Given the description of an element on the screen output the (x, y) to click on. 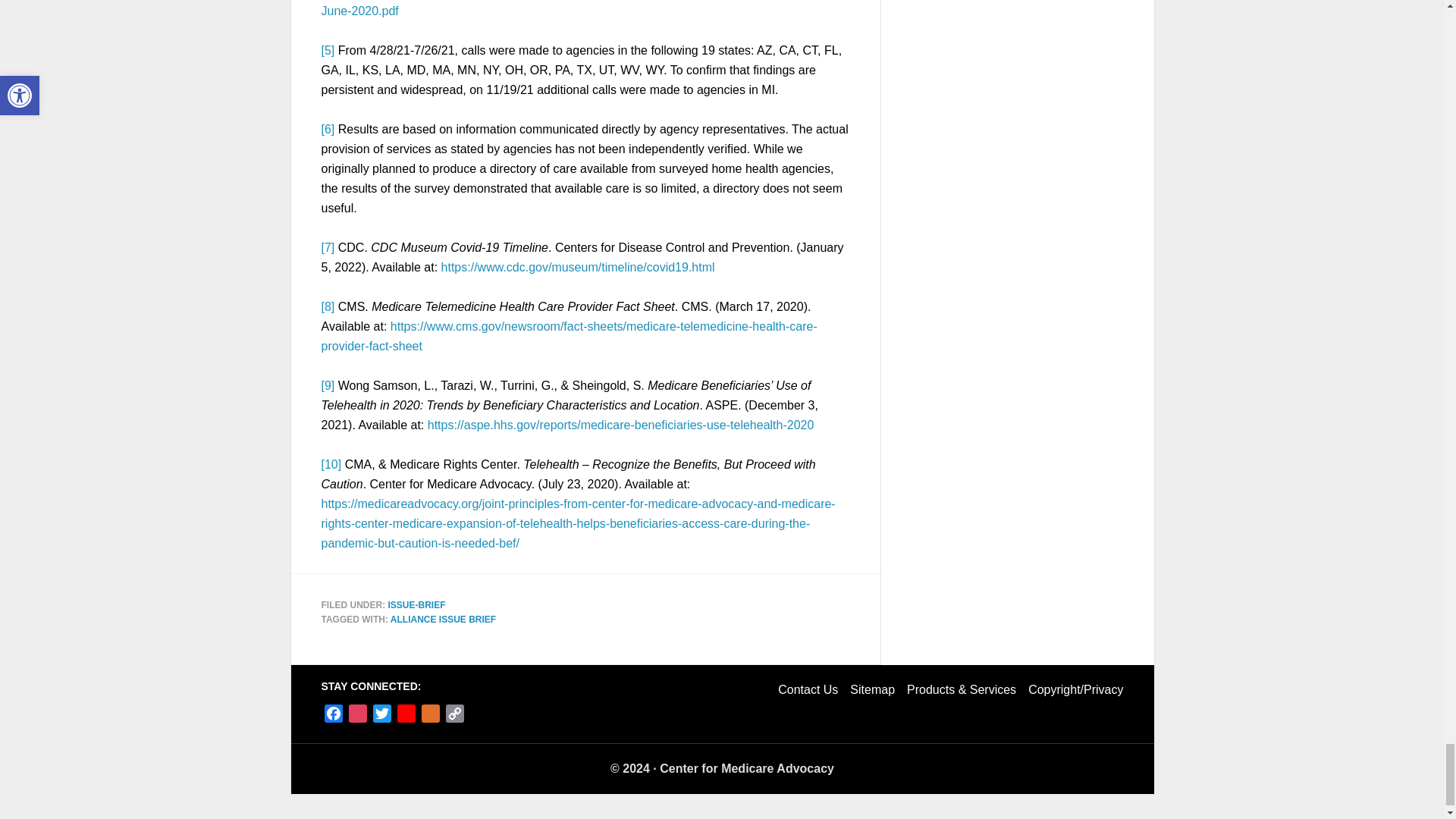
RSS Feed (430, 716)
Facebook (333, 716)
YouTube (406, 716)
Twitter (381, 716)
Copy Link (454, 716)
Instagram (357, 716)
